Given the description of an element on the screen output the (x, y) to click on. 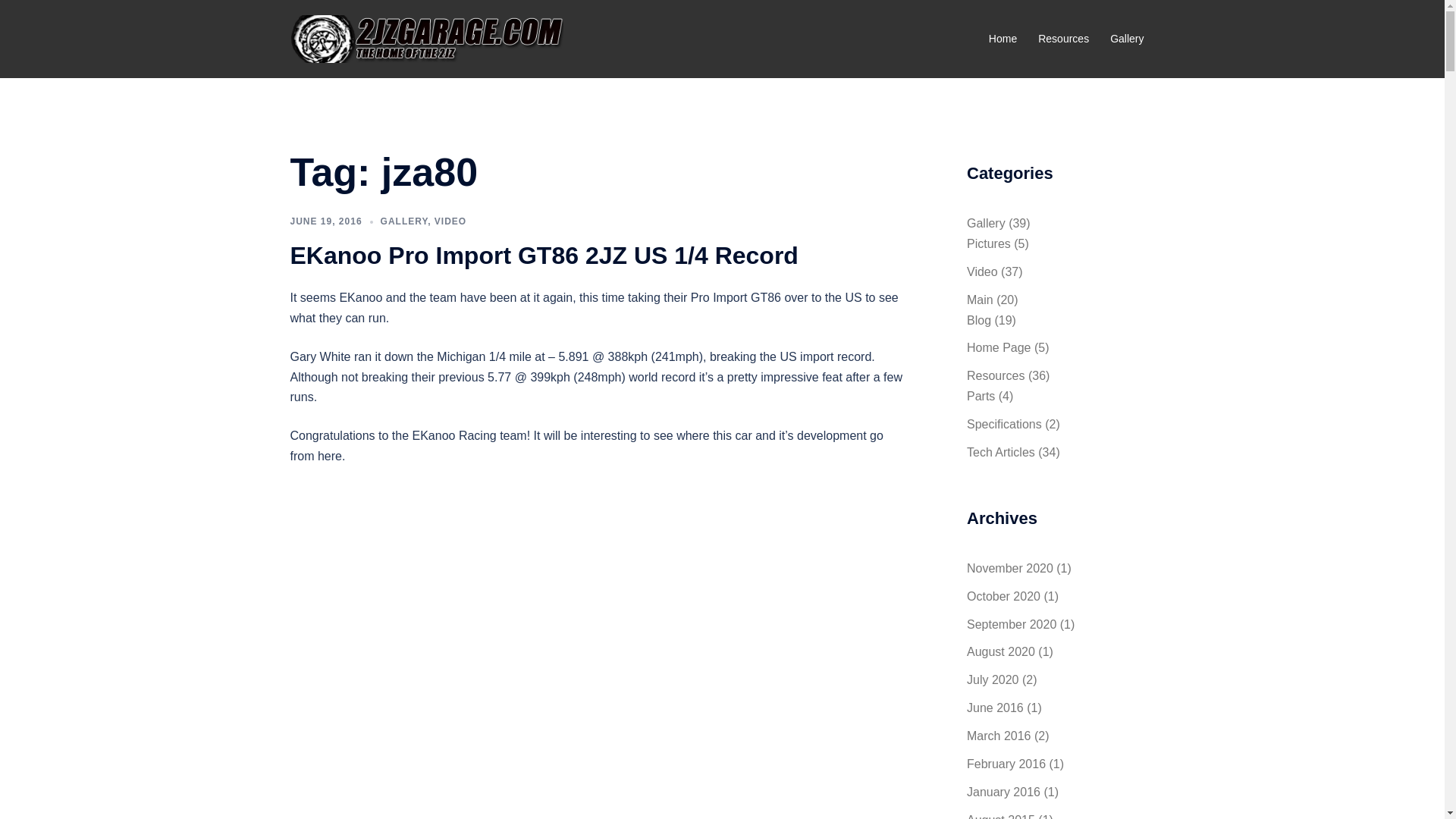
EKanoo Pro Import GT86 2JZ US 1/4 Record Element type: text (543, 255)
Home Element type: text (1002, 39)
July 2020 Element type: text (992, 679)
Blog Element type: text (978, 319)
September 2020 Element type: text (1011, 623)
October 2020 Element type: text (1003, 595)
March 2016 Element type: text (998, 735)
2JZGARAGE Element type: hover (425, 37)
Main Element type: text (979, 299)
June 2016 Element type: text (994, 707)
GALLERY Element type: text (404, 221)
Pictures Element type: text (988, 243)
Specifications Element type: text (1003, 423)
JUNE 19, 2016 Element type: text (325, 221)
Tech Articles Element type: text (1000, 451)
Home Page Element type: text (998, 347)
Resources Element type: text (1063, 39)
January 2016 Element type: text (1003, 791)
Gallery Element type: text (985, 222)
VIDEO Element type: text (450, 221)
Video Element type: text (981, 271)
Resources Element type: text (995, 375)
Parts Element type: text (980, 395)
August 2020 Element type: text (1000, 651)
February 2016 Element type: text (1005, 763)
Gallery Element type: text (1126, 39)
November 2020 Element type: text (1009, 567)
